Given the description of an element on the screen output the (x, y) to click on. 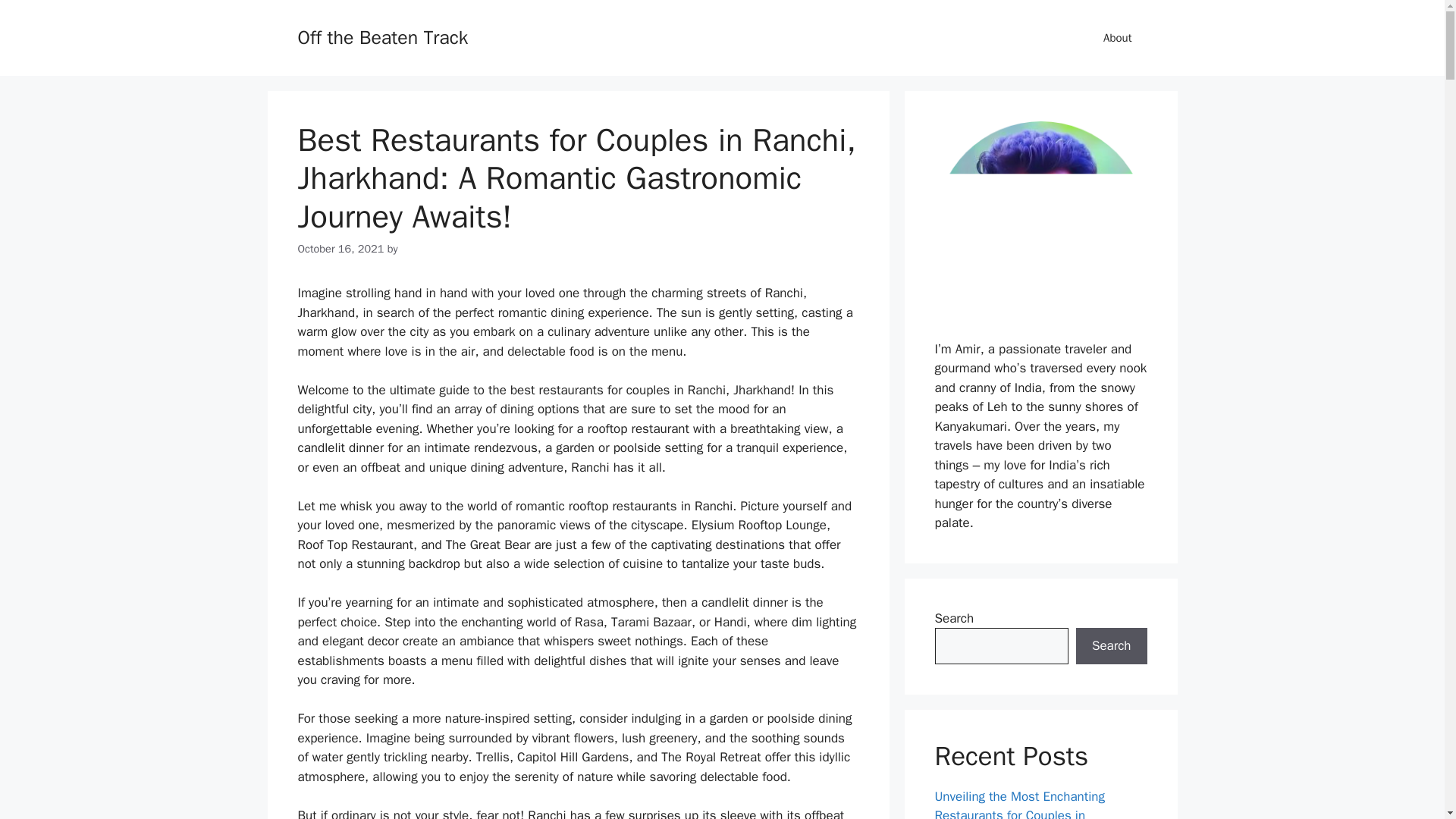
Off the Beaten Track (382, 37)
Search (1111, 646)
About (1117, 37)
